Given the description of an element on the screen output the (x, y) to click on. 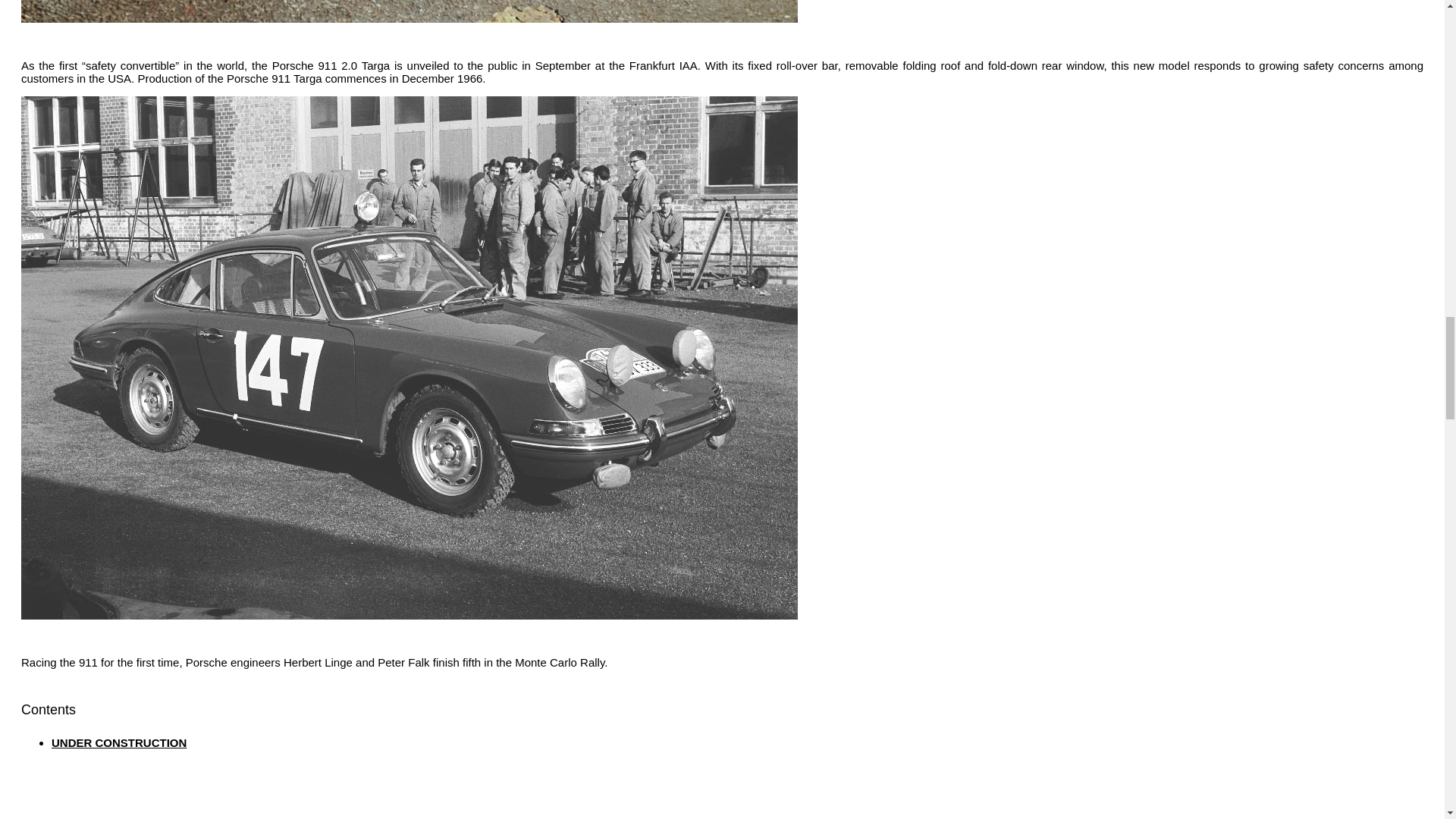
UNDER CONSTRUCTION (118, 742)
